Given the description of an element on the screen output the (x, y) to click on. 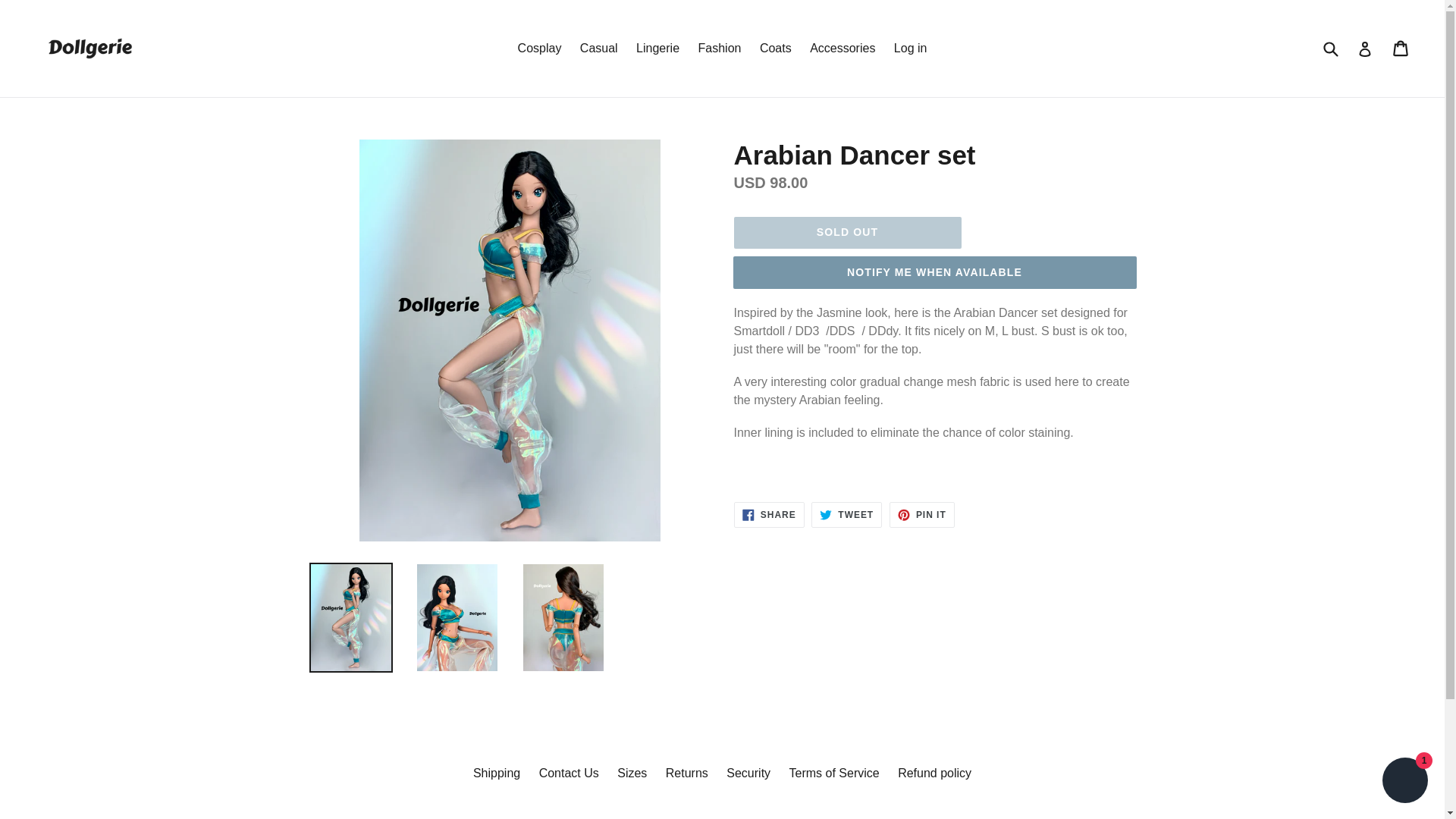
Coats (846, 514)
SOLD OUT (775, 47)
Security (846, 232)
Refund policy (769, 514)
Share on Facebook (748, 772)
Terms of Service (934, 772)
Casual (769, 514)
Log in (834, 772)
Lingerie (599, 47)
Pin on Pinterest (910, 47)
Returns (657, 47)
Shopify online store chat (922, 514)
